Given the description of an element on the screen output the (x, y) to click on. 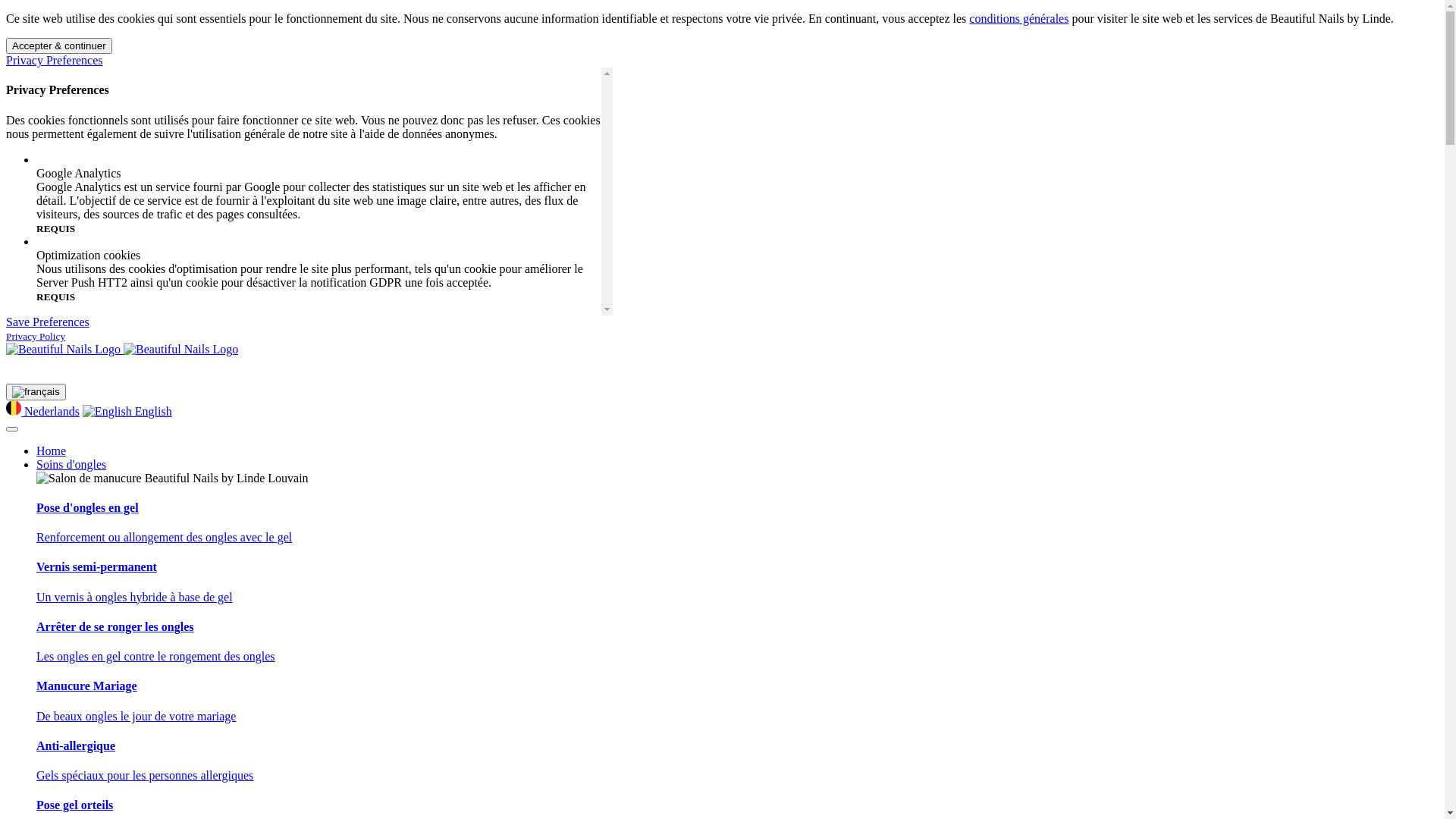
Manucure Mariage
De beaux ongles le jour de votre mariage Element type: text (737, 700)
Home Element type: text (737, 451)
Soins d'ongles Element type: text (737, 464)
Open Mobile Menu Element type: hover (12, 428)
Accepter & continuer Element type: text (59, 45)
Privacy Policy Element type: text (35, 335)
Save Preferences Element type: text (47, 321)
English Element type: text (127, 410)
Privacy Preferences Element type: text (54, 59)
Nederlands Element type: text (42, 410)
